Given the description of an element on the screen output the (x, y) to click on. 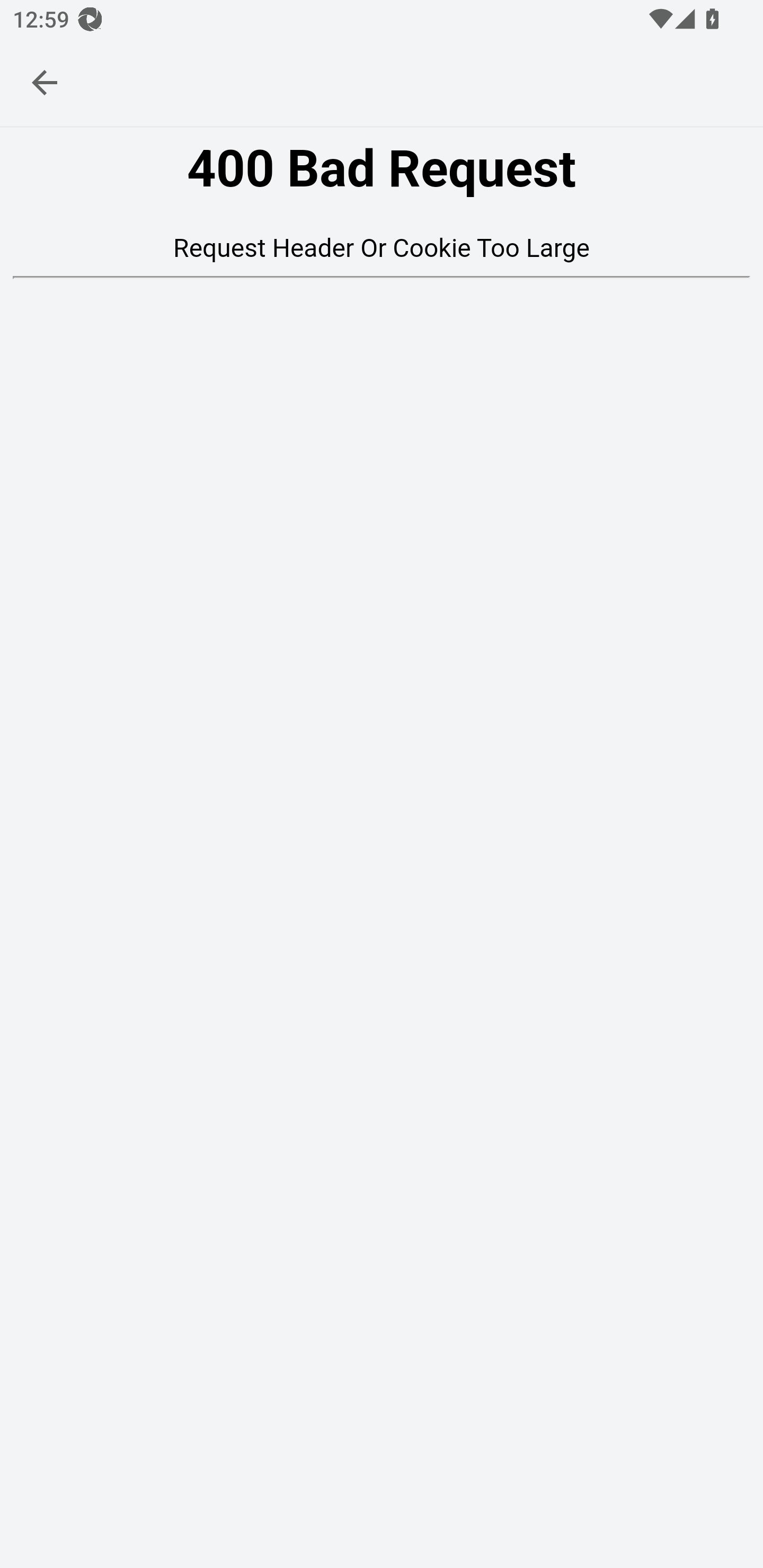
Navigate up (44, 82)
